Given the description of an element on the screen output the (x, y) to click on. 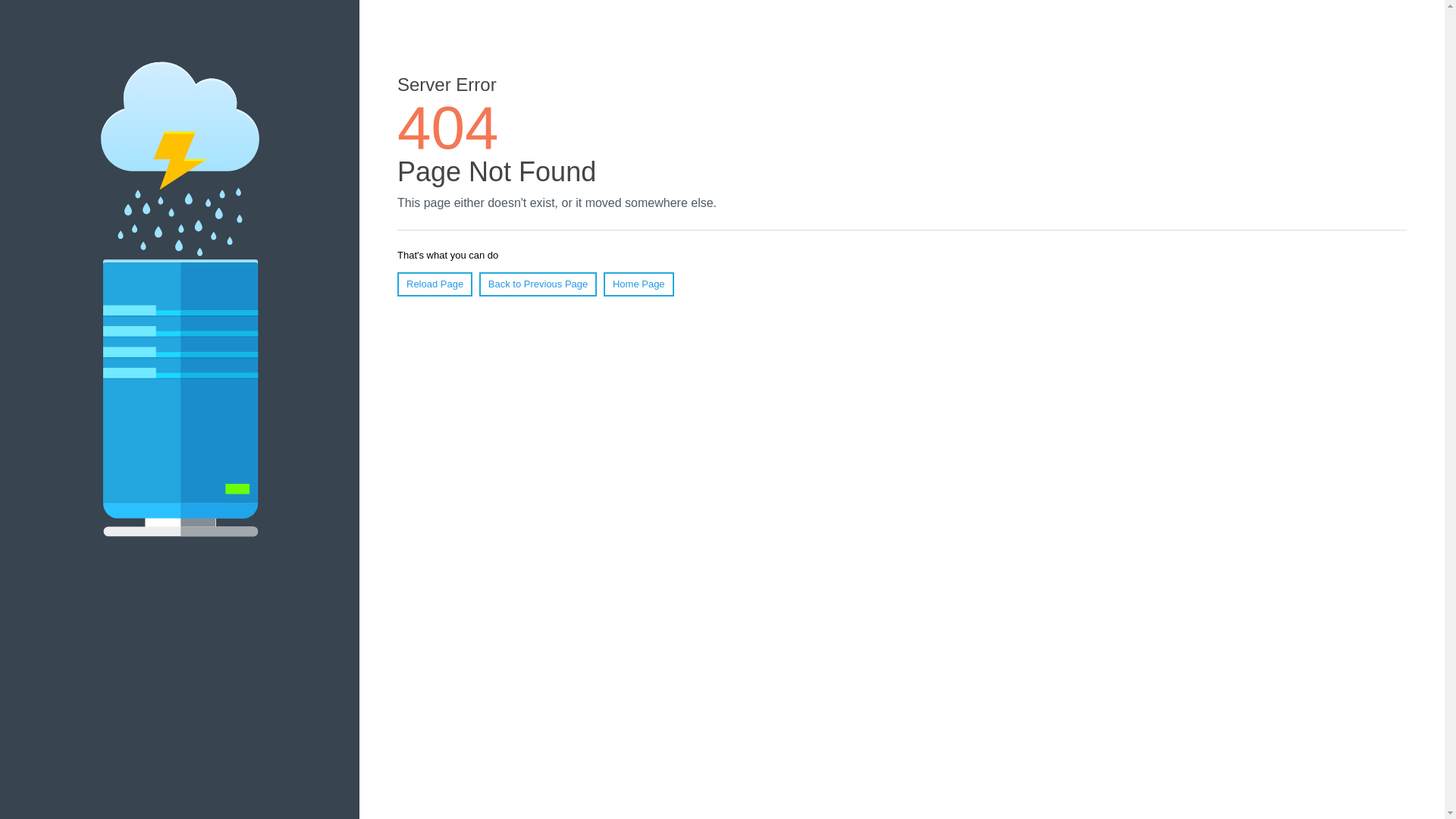
Back to Previous Page Element type: text (538, 284)
Home Page Element type: text (638, 284)
Reload Page Element type: text (434, 284)
